Given the description of an element on the screen output the (x, y) to click on. 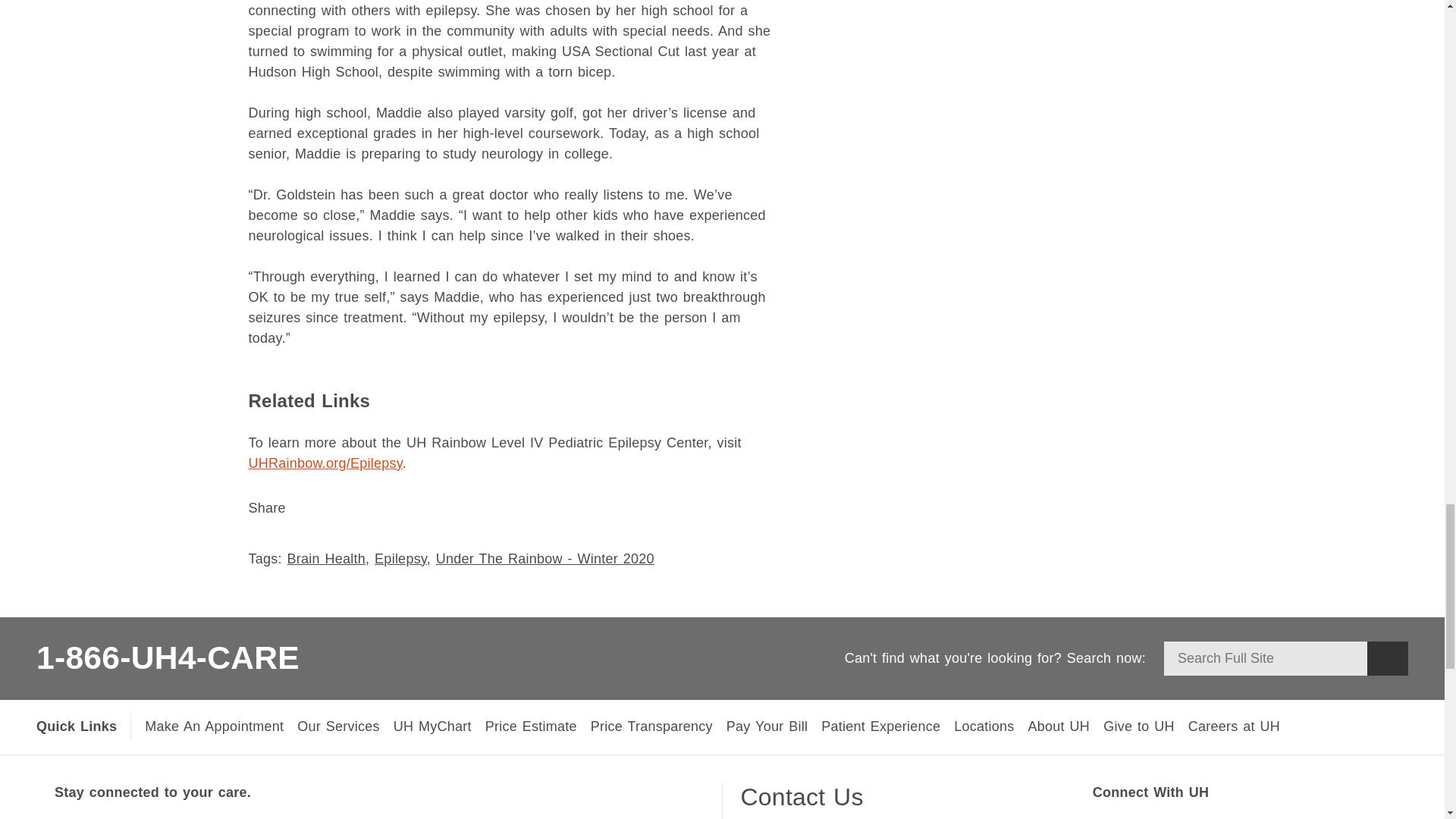
Search (1387, 658)
